Given the description of an element on the screen output the (x, y) to click on. 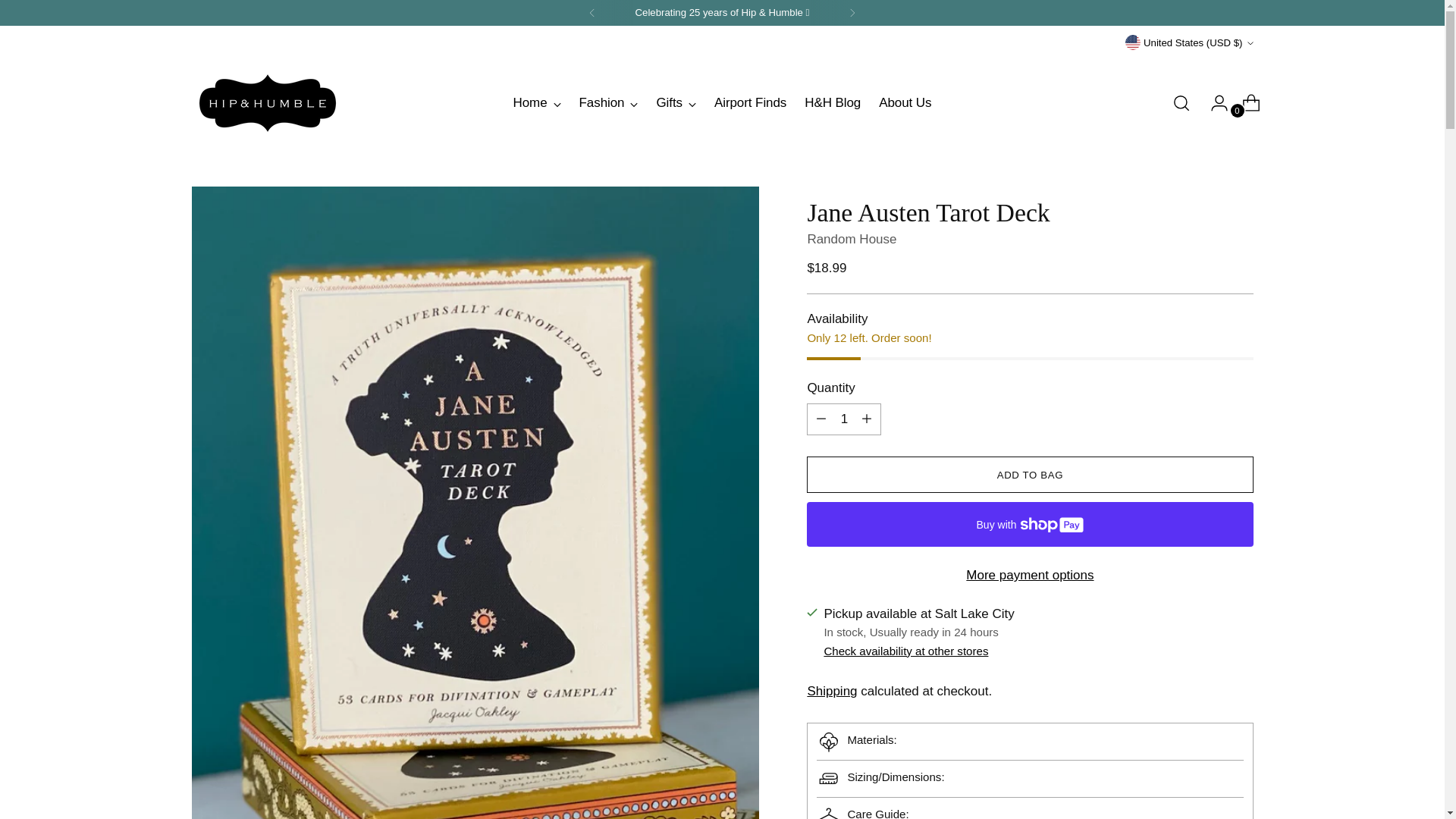
Next (852, 12)
1 (843, 419)
Previous (591, 12)
Random House (851, 238)
